Given the description of an element on the screen output the (x, y) to click on. 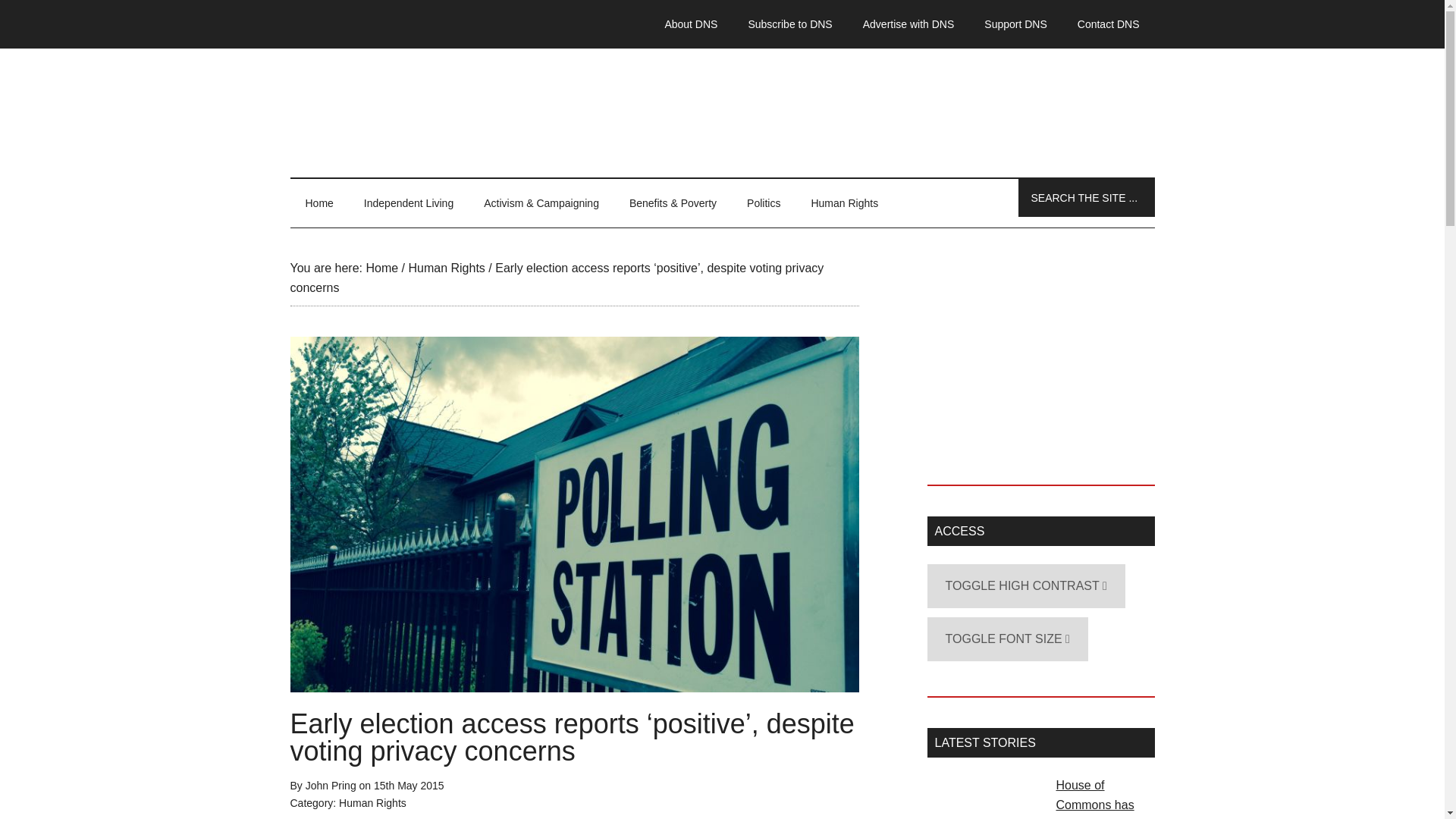
Human Rights (843, 203)
About DNS (690, 24)
Human Rights (372, 802)
Home (318, 203)
Human Rights (445, 267)
John Pring (330, 785)
Contact DNS (1108, 24)
Subscribe to DNS (789, 24)
